Given the description of an element on the screen output the (x, y) to click on. 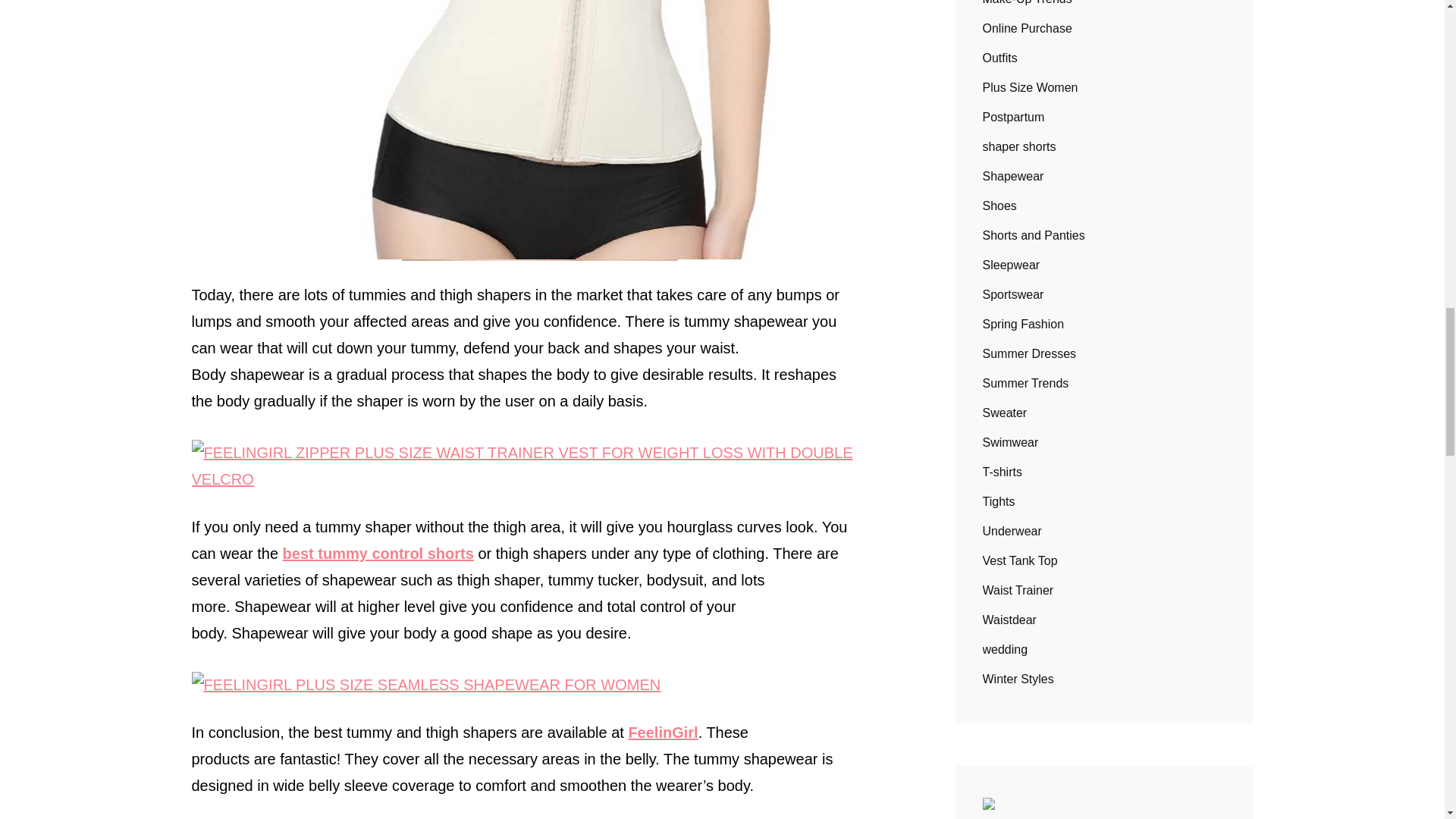
FeelinGirl (662, 732)
best tummy control shorts (378, 553)
